Given the description of an element on the screen output the (x, y) to click on. 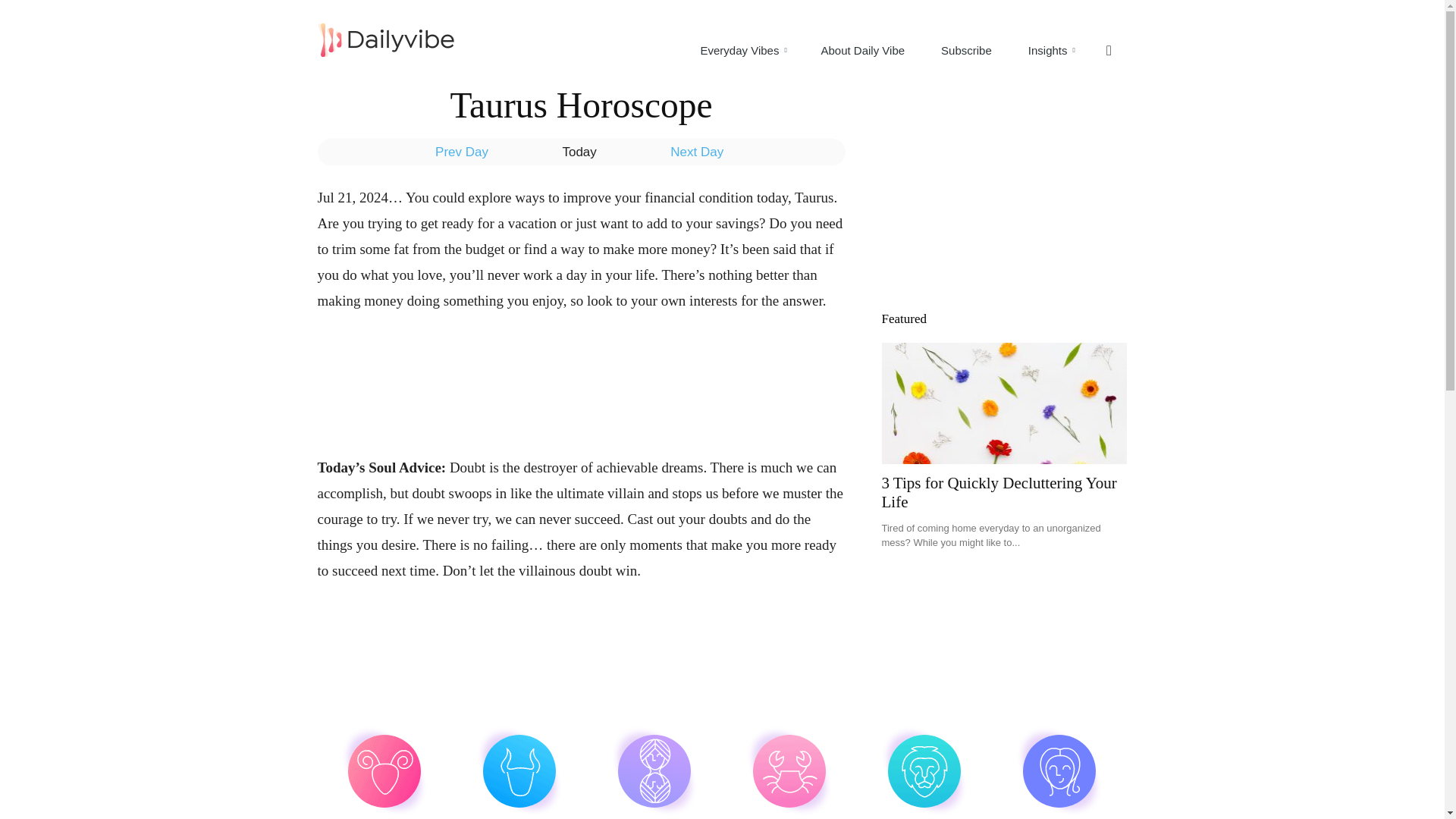
About Daily Vibe (862, 50)
Search (655, 773)
Aries Horoscope Today (1077, 122)
3 Tips for Quickly Decluttering Your Life (384, 773)
Stories (998, 492)
Advertisement (742, 50)
Cancer Horoscope Today (593, 366)
Virgo Horoscope Today (384, 773)
Everyday Vibes (789, 773)
Taurus Horoscope Today (1058, 773)
Prev Day (742, 50)
Today (519, 773)
